Given the description of an element on the screen output the (x, y) to click on. 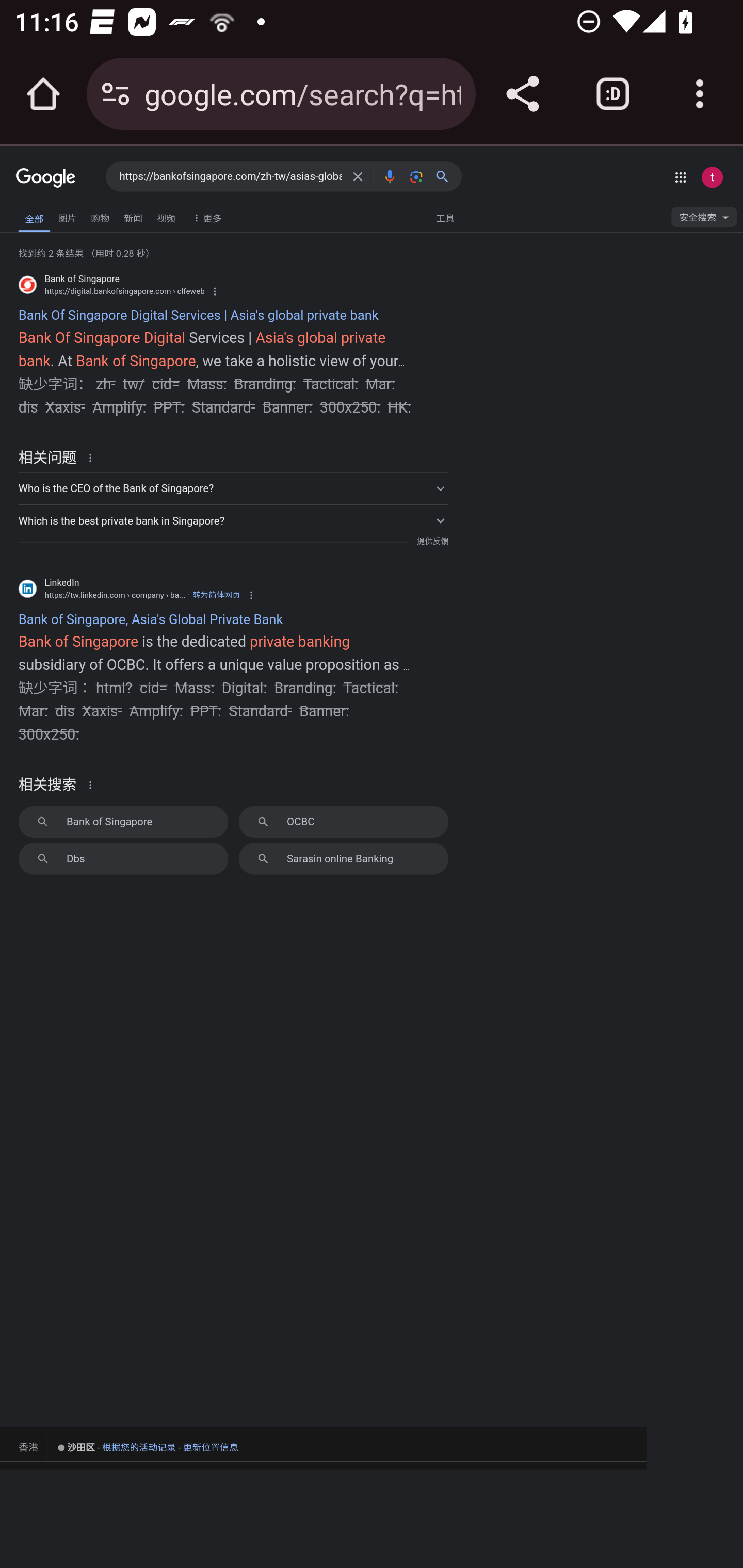
Open the home page (43, 93)
Connection is secure (115, 93)
Share (522, 93)
Switch or close tabs (612, 93)
Customize and control Google Chrome (699, 93)
清除 (357, 176)
按语音搜索 (389, 176)
按图搜索 (415, 176)
搜索 (446, 176)
Google 应用 (680, 176)
Google 账号： test appium (testappium002@gmail.com) (712, 176)
Google (45, 178)
关闭“连续滚动” (42, 197)
无障碍功能反馈 (42, 212)
图片 (67, 216)
购物 (99, 216)
新闻 (133, 216)
视频 (166, 216)
更多 (205, 216)
安全搜索 (703, 219)
工具 (444, 216)
关于这条结果的详细信息 (93, 457)
Who is the CEO of the Bank of Singapore? (232, 487)
Which is the best private bank in Singapore? (232, 519)
提供反馈 (432, 541)
转为简体网页 (216, 595)
关于这条结果的详细信息 (93, 784)
Bank of Singapore (122, 821)
OCBC (343, 821)
Dbs (122, 858)
Sarasin online Banking (343, 858)
沙田区  - 根据您的活动记录 (116, 1447)
更新位置信息 (210, 1446)
